Given the description of an element on the screen output the (x, y) to click on. 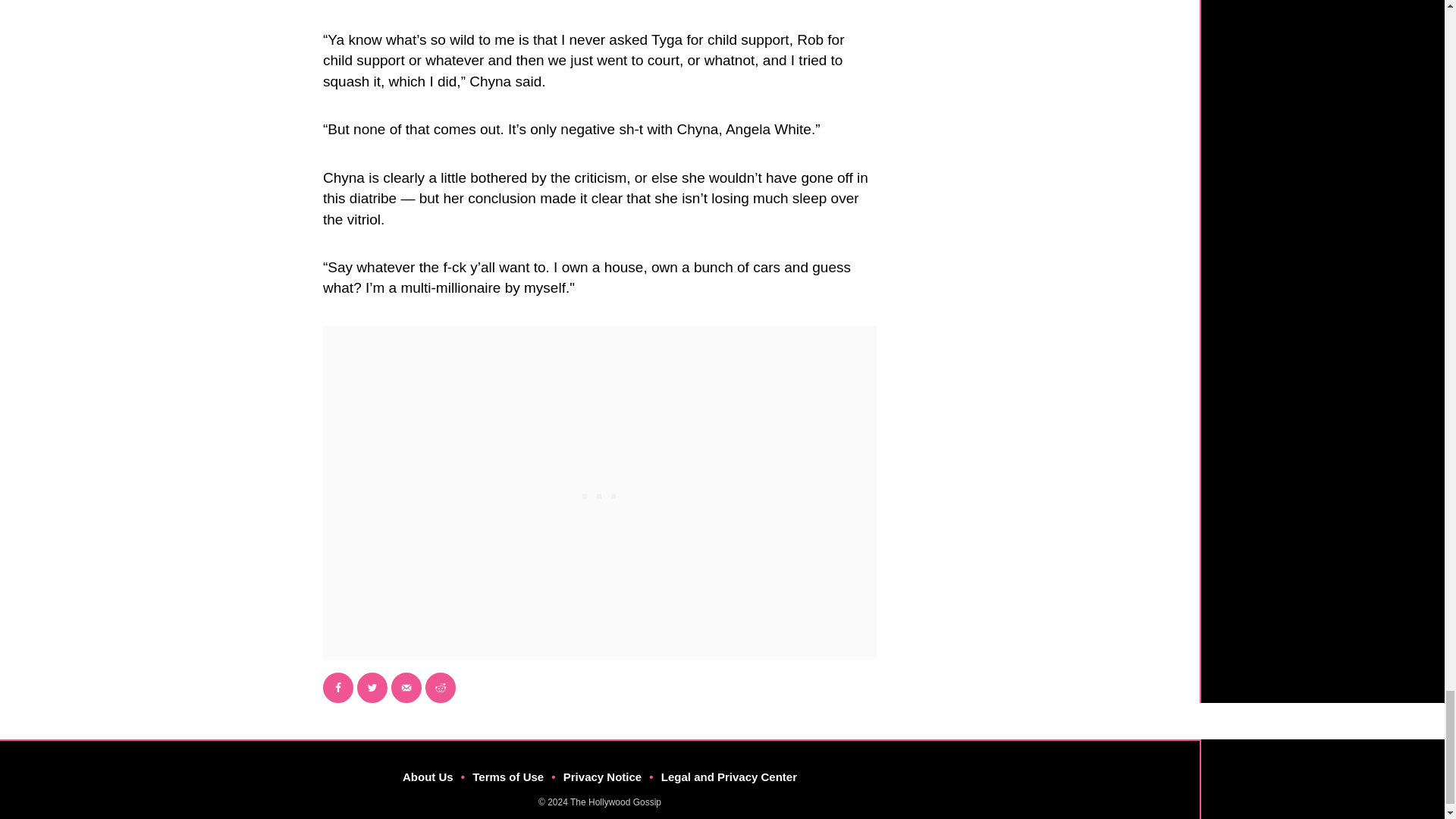
Share on Facebook (338, 687)
Share on Reddit (440, 687)
Share on Twitter (371, 687)
Send over email (406, 687)
